Given the description of an element on the screen output the (x, y) to click on. 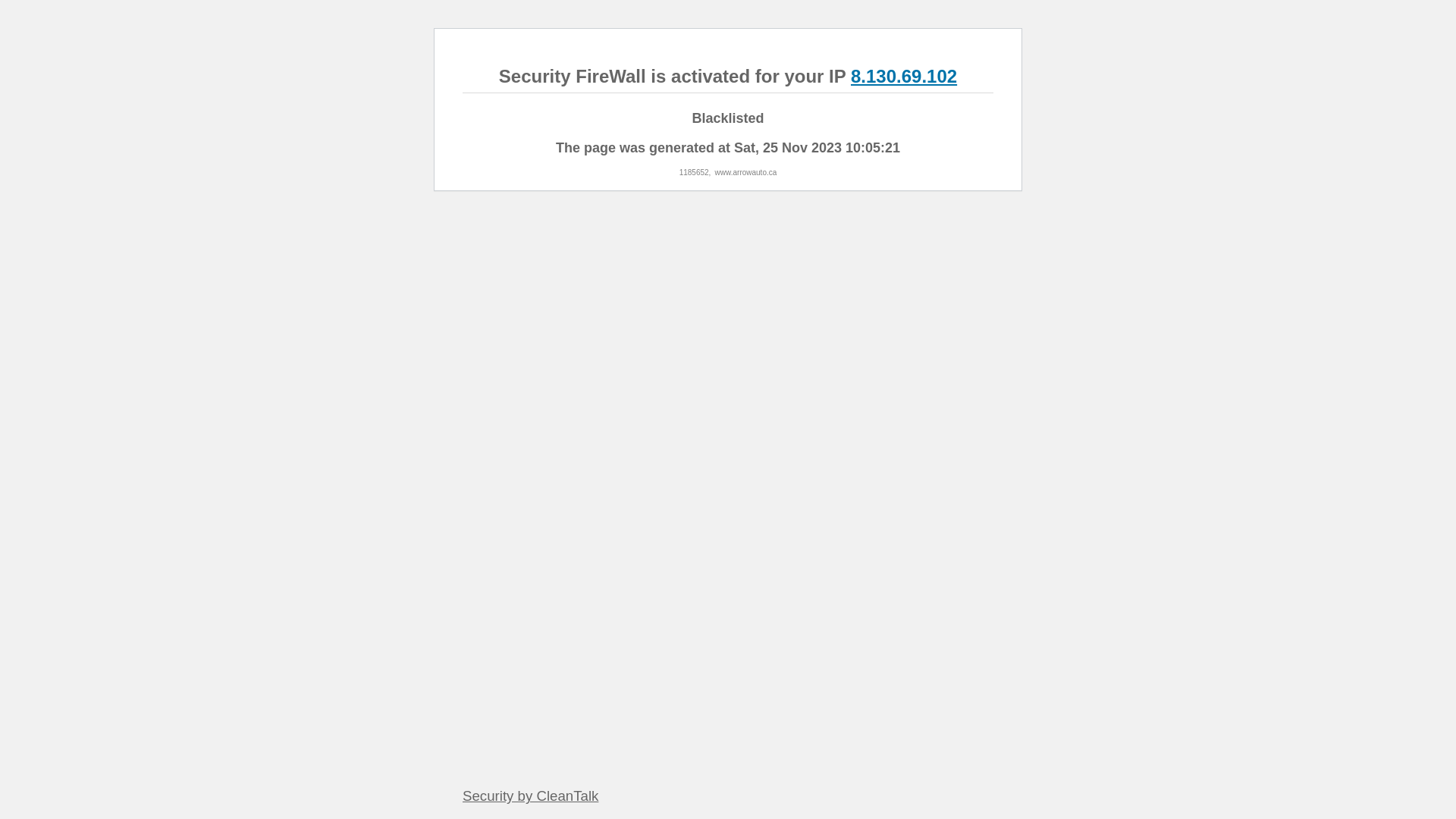
8.130.69.102 Element type: text (903, 75)
Security by CleanTalk Element type: text (530, 795)
